Given the description of an element on the screen output the (x, y) to click on. 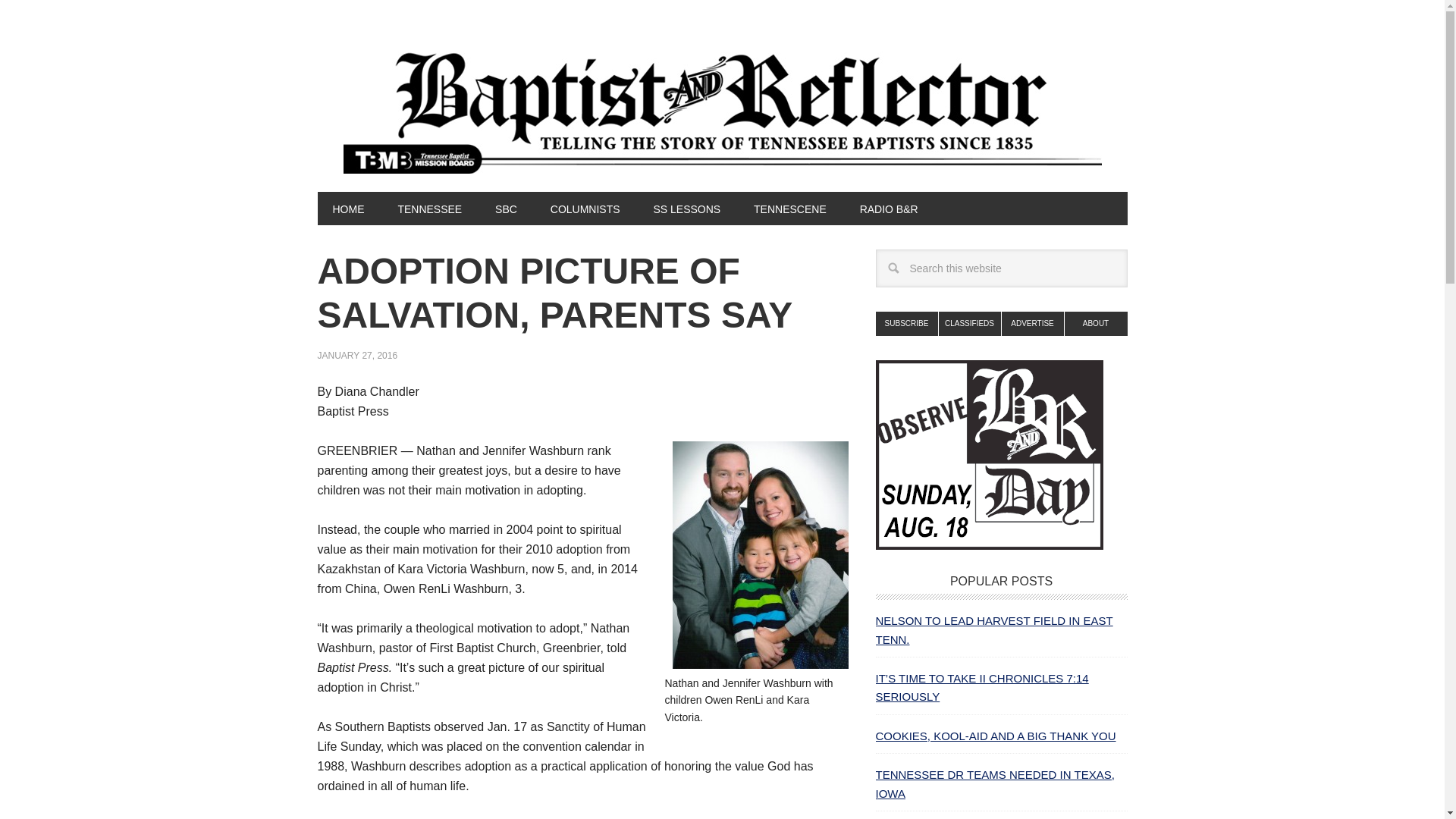
NELSON TO LEAD HARVEST FIELD IN EAST TENN. (993, 629)
HOME (347, 208)
TENNESCENE (789, 208)
TENNESSEE (429, 208)
SS LESSONS (686, 208)
SUBSCRIBE (906, 323)
TENNESSEE DR TEAMS NEEDED IN TEXAS, IOWA (994, 783)
ABOUT (1095, 323)
CLASSIFIEDS (970, 323)
COLUMNISTS (584, 208)
COOKIES, KOOL-AID AND A BIG THANK YOU (995, 735)
ADVERTISE (1032, 323)
